Given the description of an element on the screen output the (x, y) to click on. 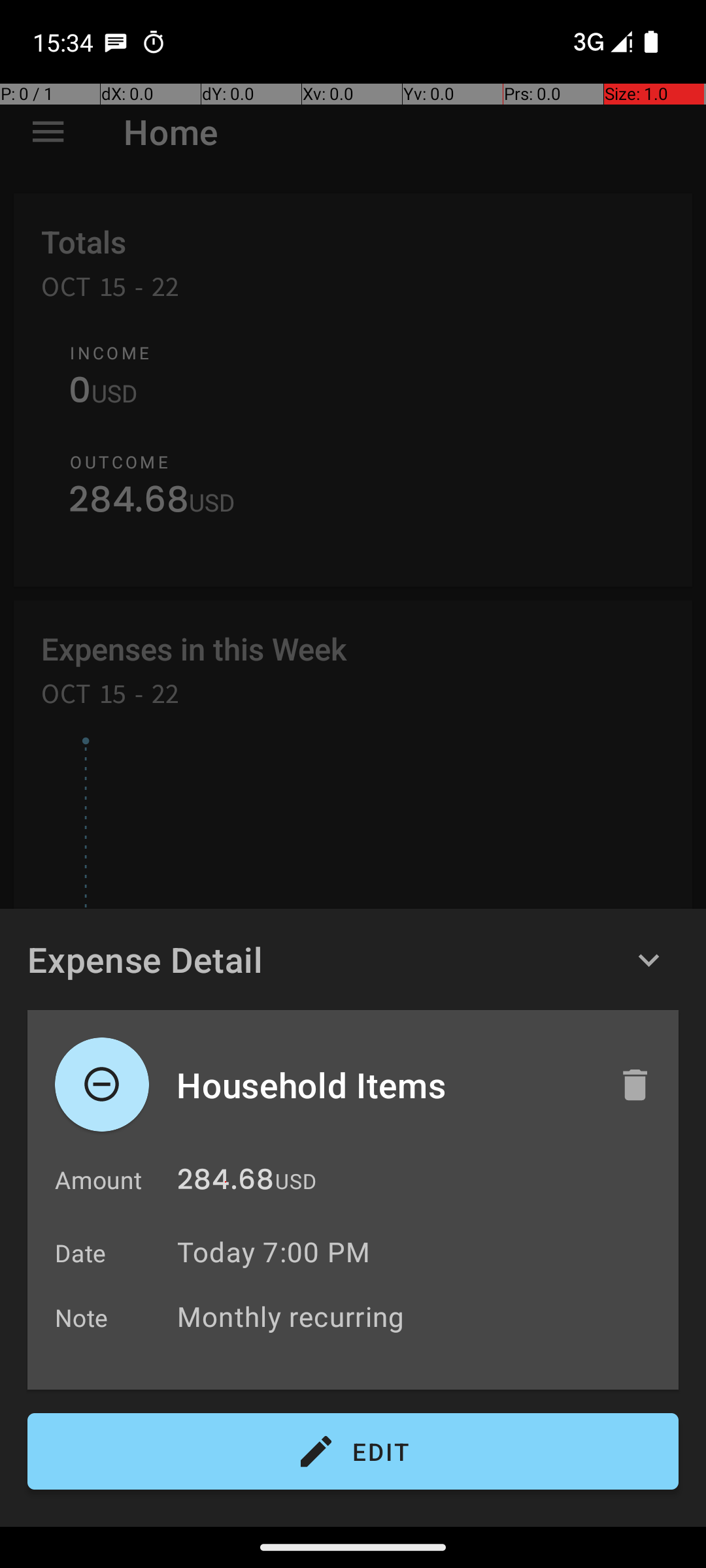
Household Items Element type: android.widget.TextView (383, 1084)
284.68 Element type: android.widget.TextView (225, 1182)
